Given the description of an element on the screen output the (x, y) to click on. 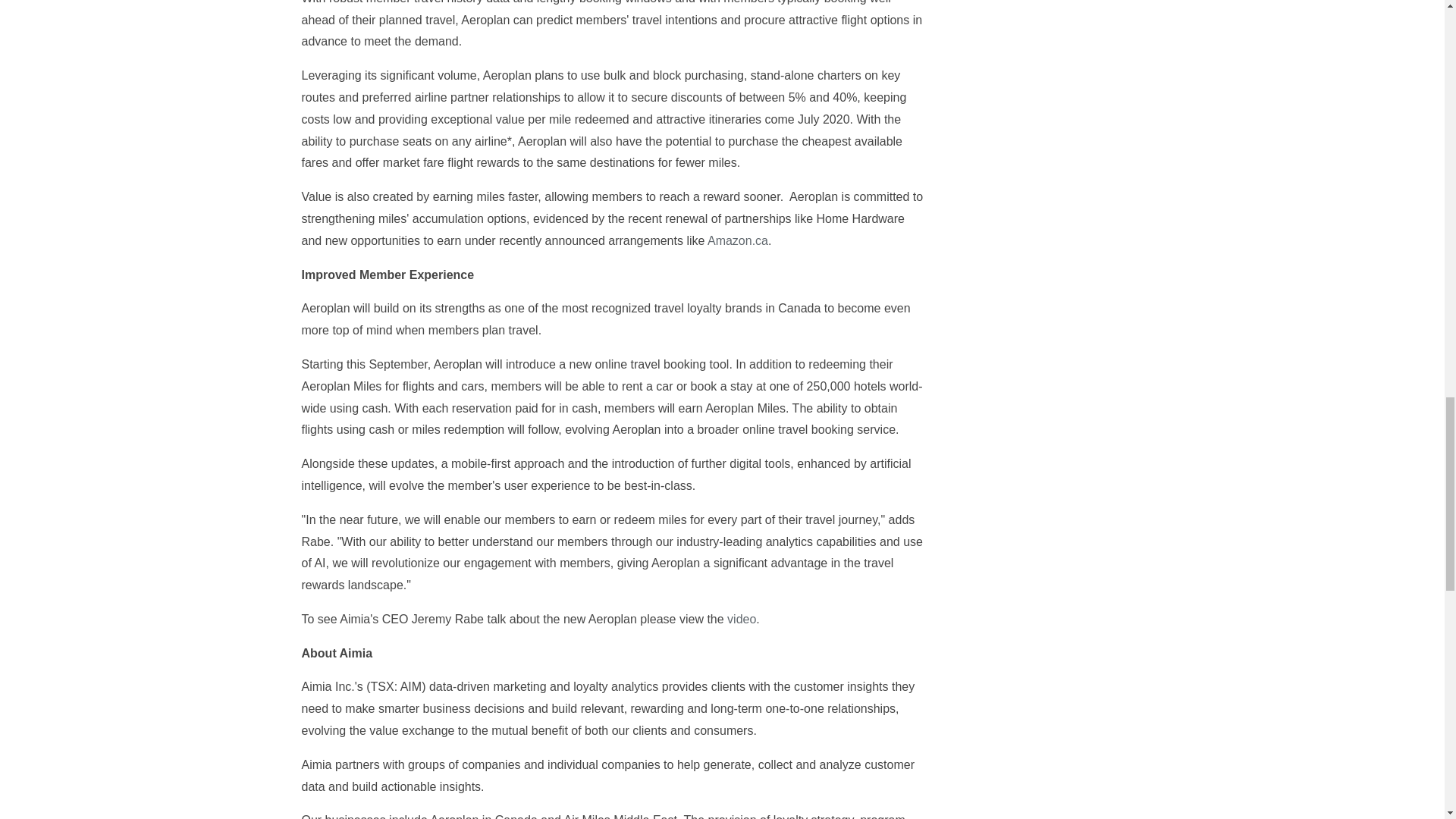
Amazon.ca (737, 240)
video (740, 618)
